Given the description of an element on the screen output the (x, y) to click on. 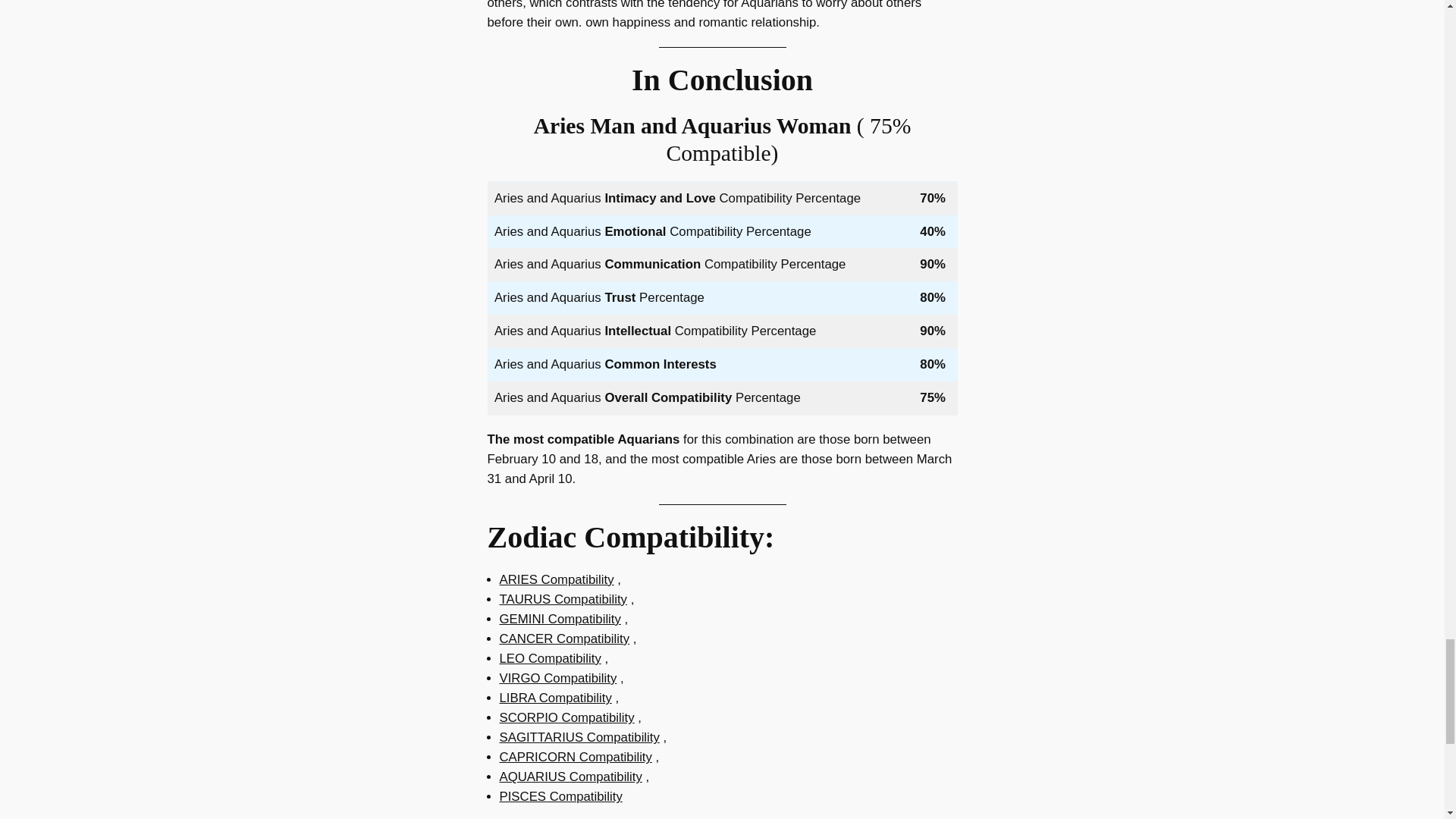
LIBRA Compatibility (555, 698)
SCORPIO Compatibility (566, 717)
AQUARIUS Compatibility (570, 776)
GEMINI Compatibility (559, 618)
CAPRICORN Compatibility (574, 757)
SAGITTARIUS Compatibility (579, 737)
TAURUS Compatibility (562, 599)
PISCES Compatibility (560, 796)
LEO Compatibility (549, 658)
CANCER Compatibility (563, 638)
VIRGO Compatibility (557, 677)
ARIES Compatibility (555, 579)
